Given the description of an element on the screen output the (x, y) to click on. 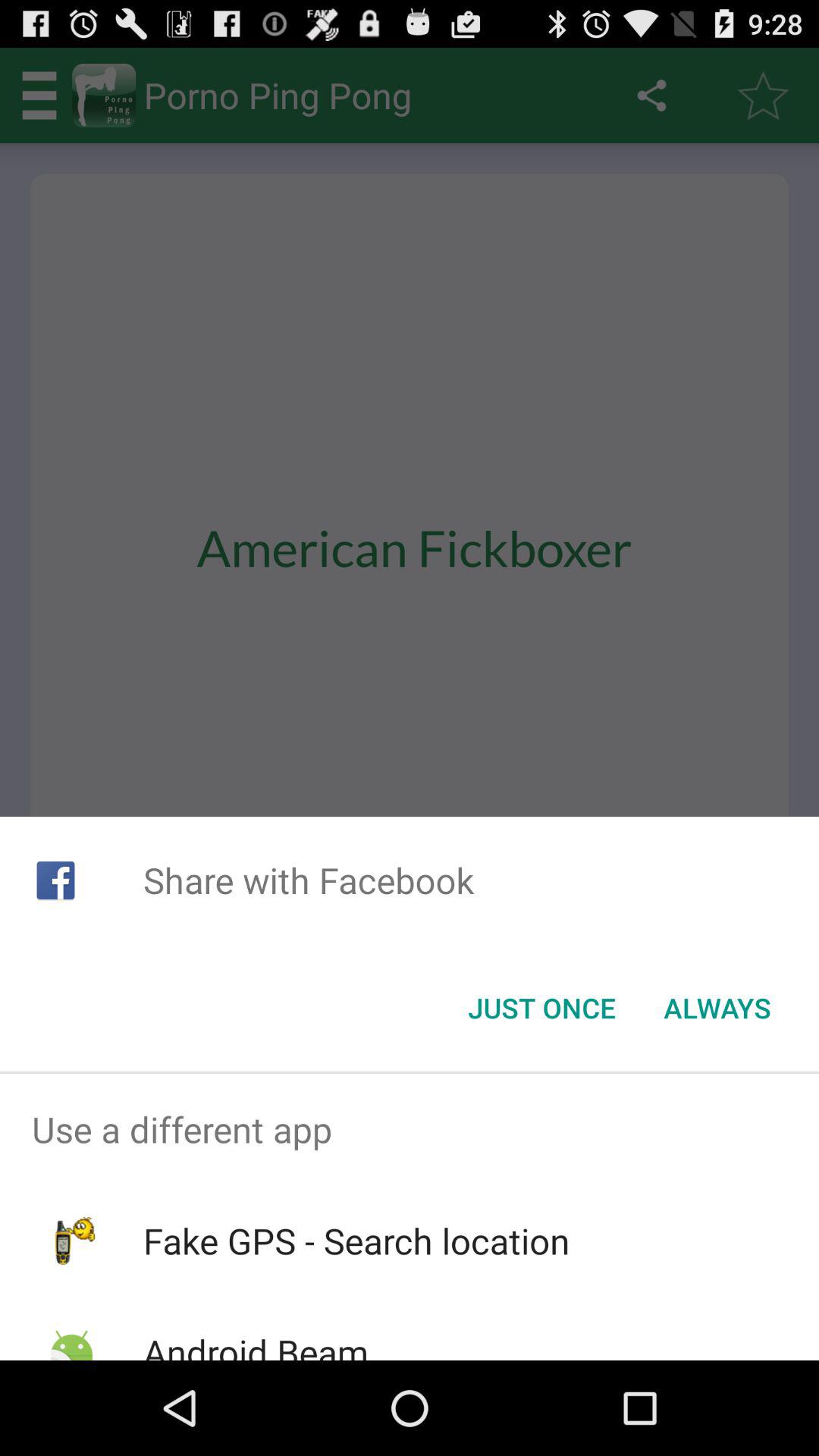
press icon below fake gps search (255, 1344)
